Given the description of an element on the screen output the (x, y) to click on. 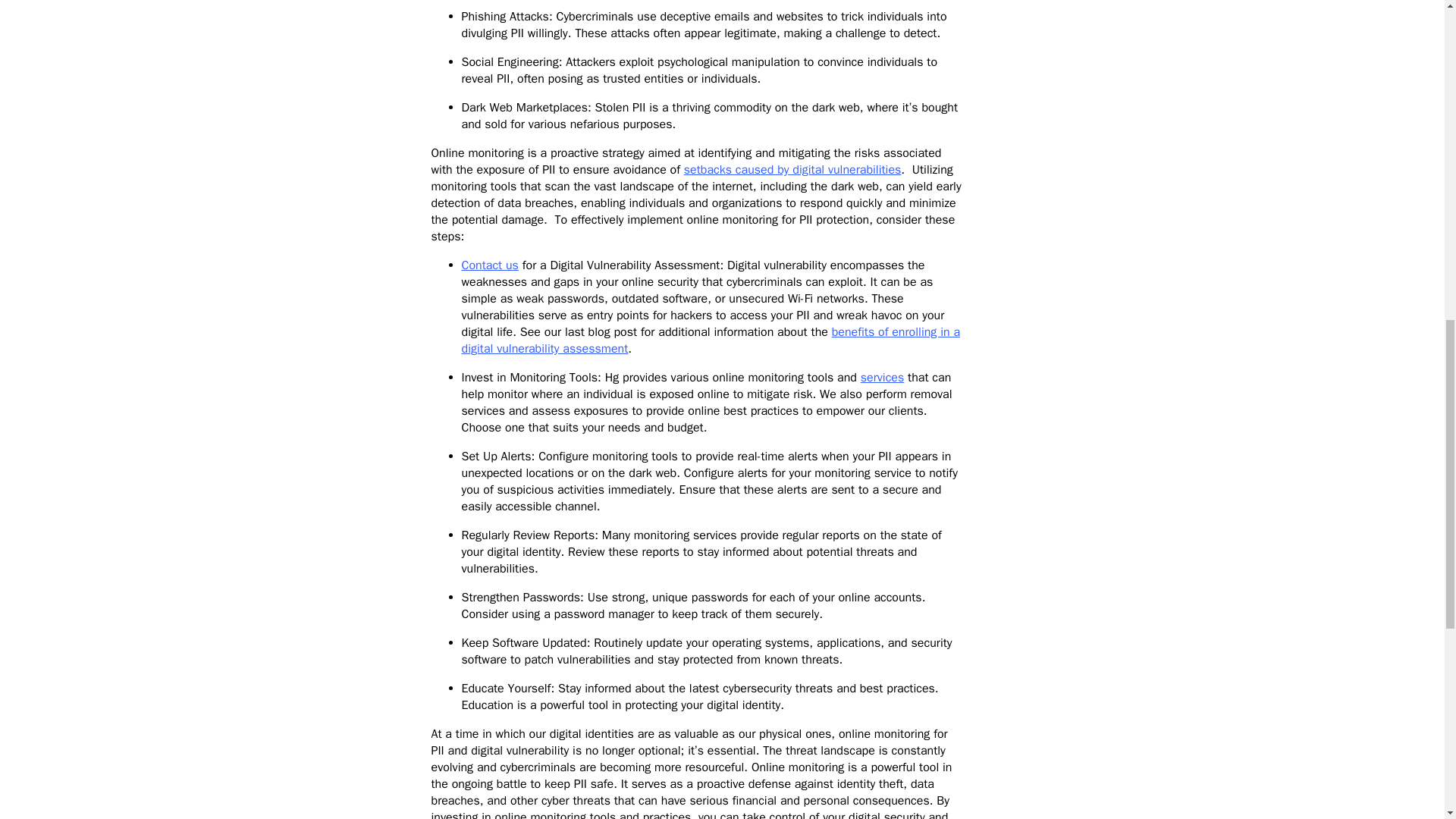
services (882, 377)
Contact us (489, 264)
setbacks caused by digital vulnerabilities (792, 169)
benefits of enrolling in a digital vulnerability assessment (710, 340)
